Given the description of an element on the screen output the (x, y) to click on. 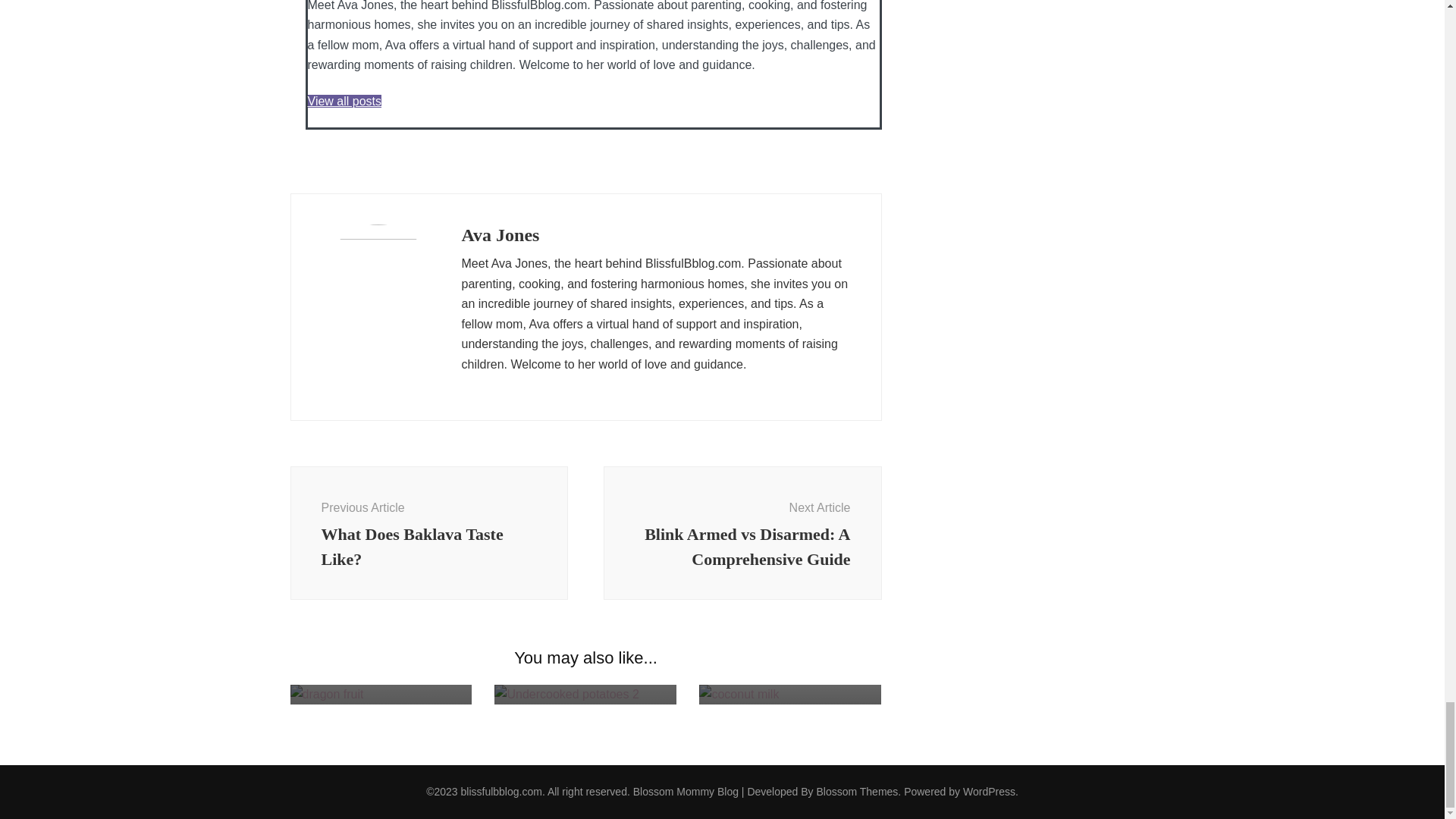
View all posts (428, 532)
View all posts (743, 532)
